Given the description of an element on the screen output the (x, y) to click on. 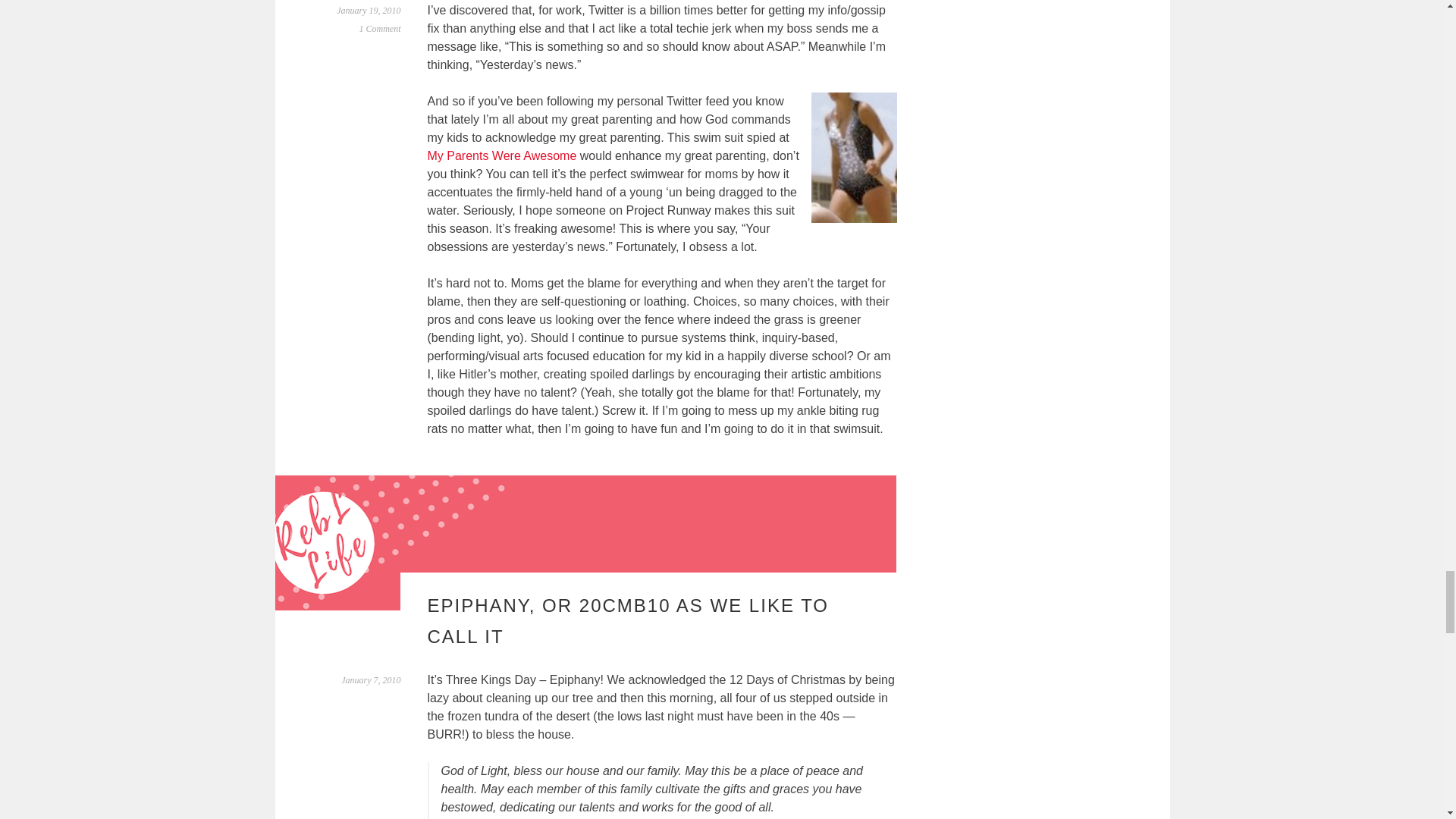
Permalink to Motherhood Obsession (368, 9)
Permalink to Epiphany, or 20CMB10 as we like to call it (370, 679)
